Given the description of an element on the screen output the (x, y) to click on. 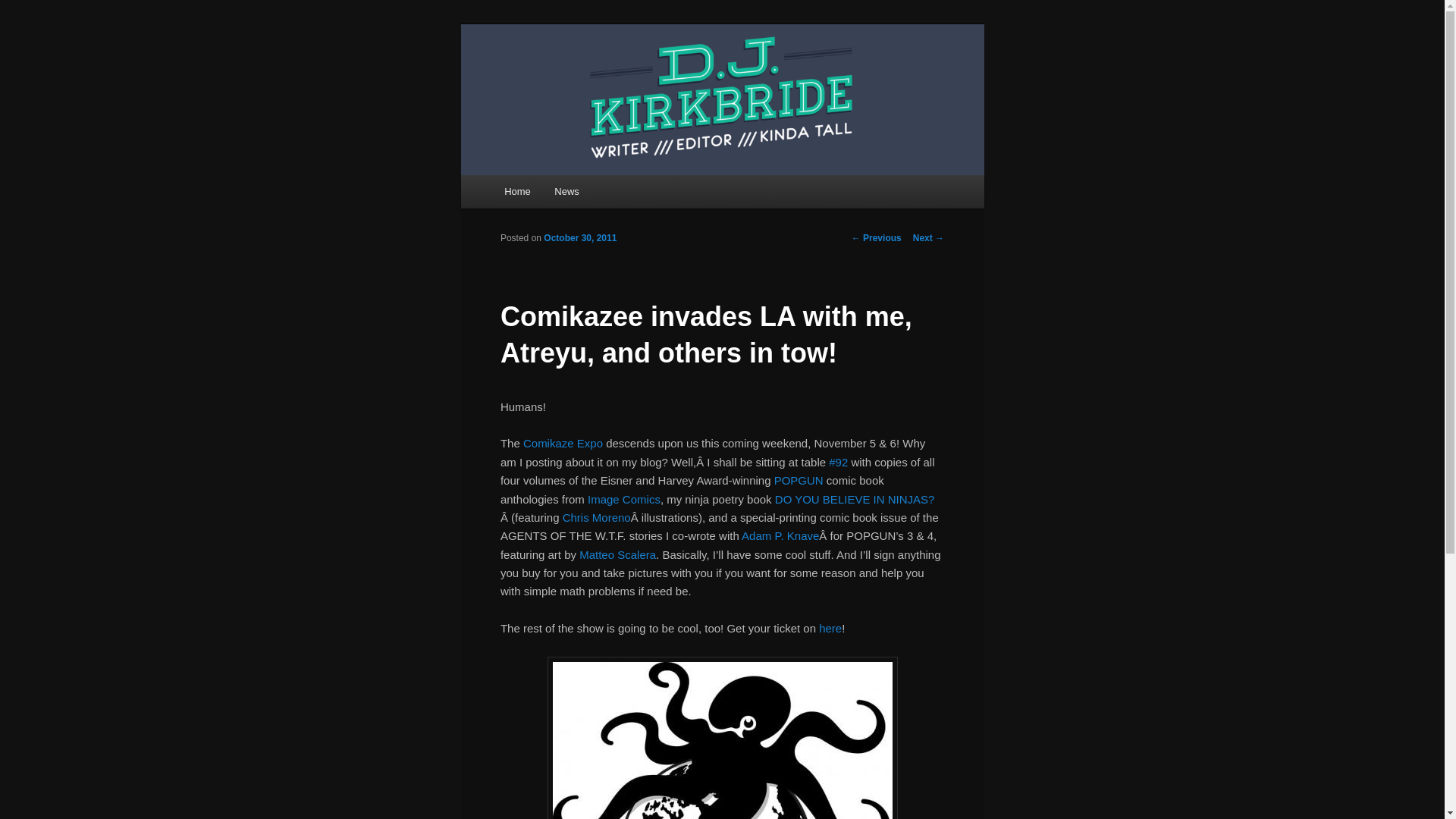
Adam P. Knave (779, 535)
Comikaze Expo (562, 442)
October 30, 2011 (579, 237)
Image Comics (624, 499)
Chris Moreno (596, 517)
djkirkbride.com (584, 78)
POPGUN (799, 480)
DO YOU BELIEVE IN NINJAS? (854, 499)
here (829, 627)
Home (516, 191)
8:17 pm (579, 237)
comikaze-expo1-1 (722, 737)
News (567, 191)
Matteo Scalera (617, 554)
